Given the description of an element on the screen output the (x, y) to click on. 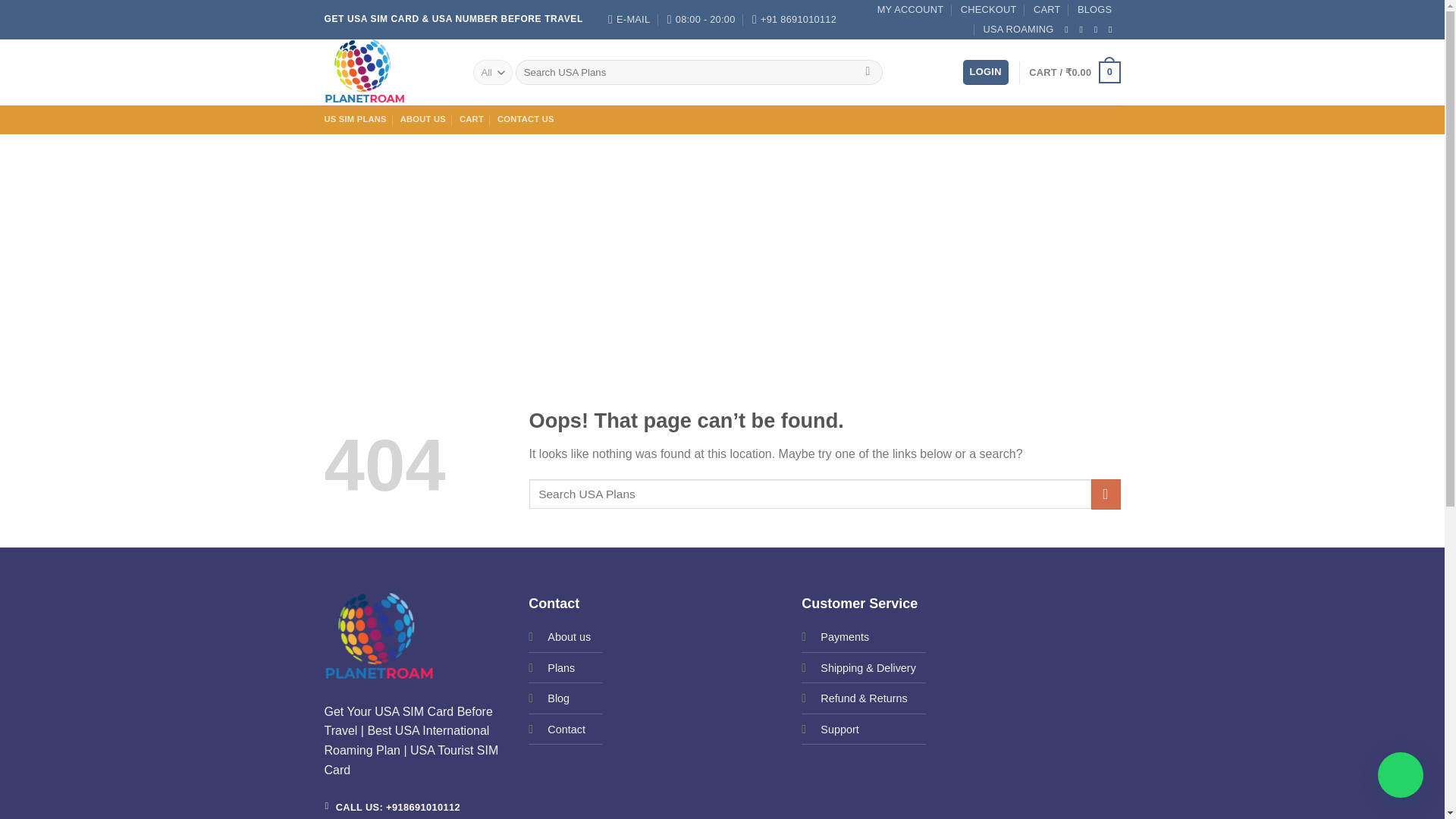
CHECKOUT (988, 9)
08:00 - 20:00  (700, 19)
ABOUT US (422, 119)
Cart (1074, 72)
BLOGS (1094, 9)
CONTACT US (525, 119)
Payments (845, 636)
Contact (566, 729)
MY ACCOUNT (910, 9)
08:00 - 20:00 (700, 19)
Support (840, 729)
USA SIM Card - Get USA SIM Card (386, 72)
About us (569, 635)
CART (1047, 9)
Search (868, 72)
